Given the description of an element on the screen output the (x, y) to click on. 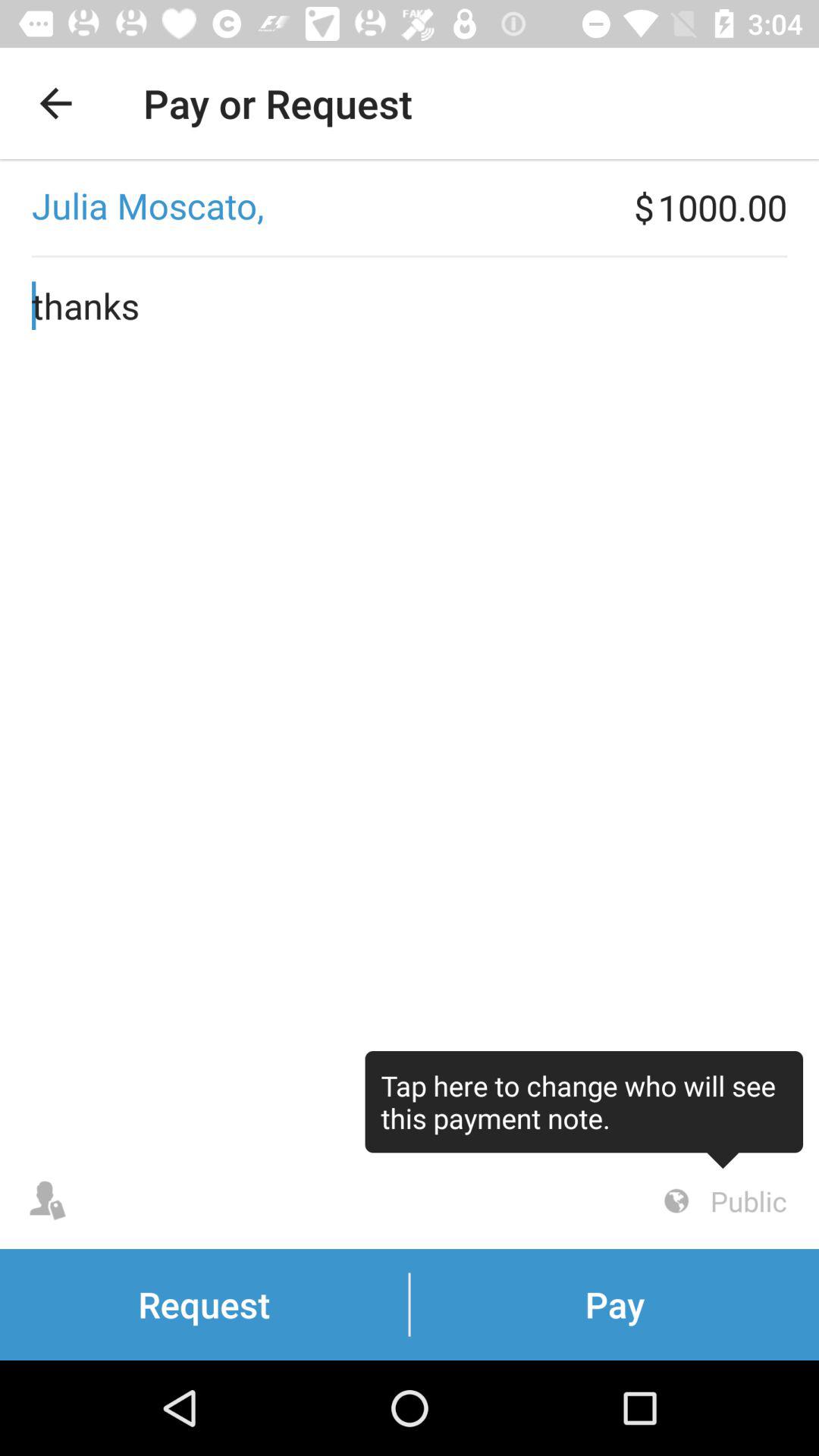
press icon at the top left corner (55, 103)
